Given the description of an element on the screen output the (x, y) to click on. 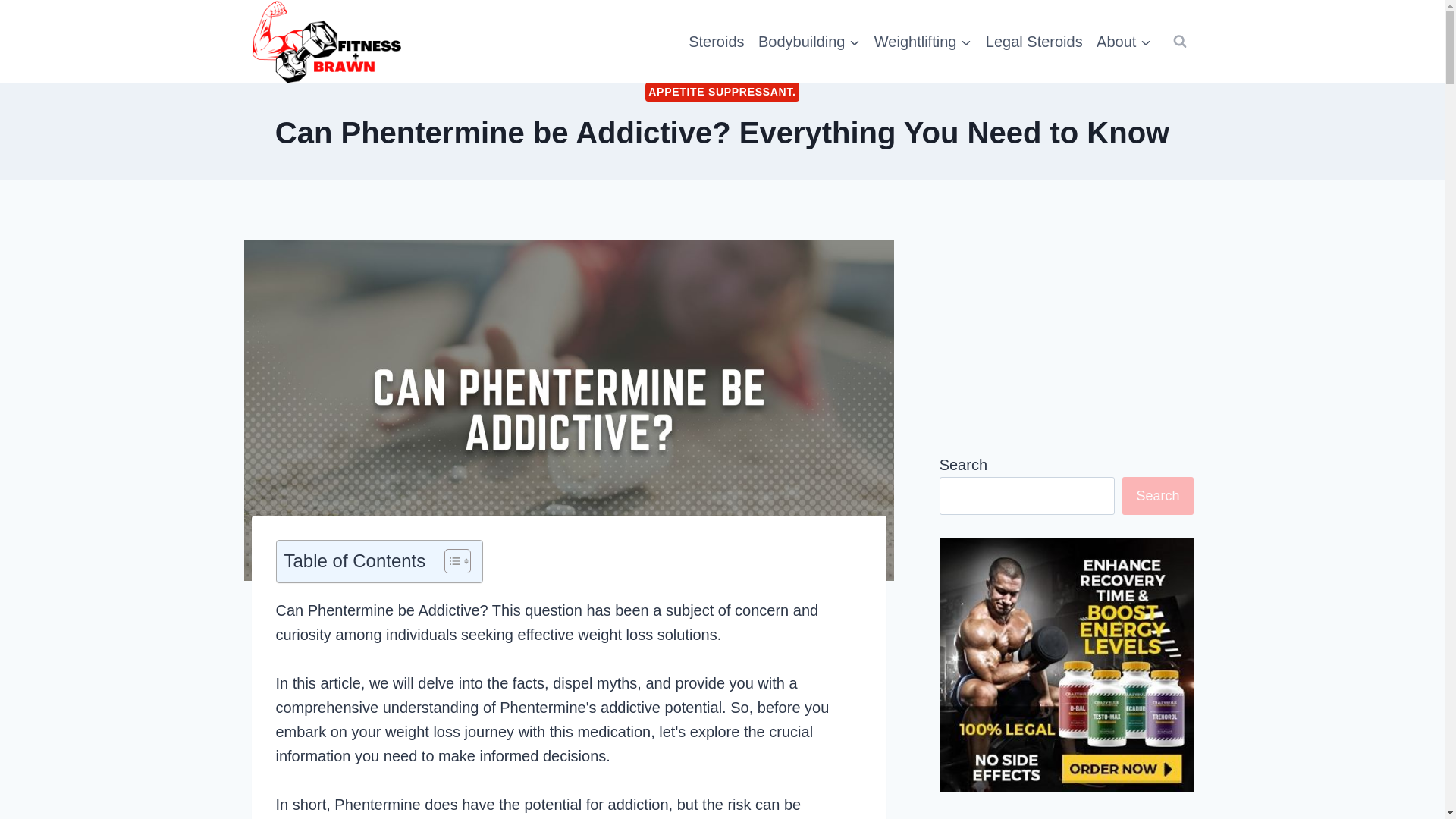
Bodybuilding (809, 41)
APPETITE SUPPRESSANT. (721, 91)
Weightlifting (922, 41)
About (1123, 41)
Legal Steroids (1033, 41)
Steroids (716, 41)
